Given the description of an element on the screen output the (x, y) to click on. 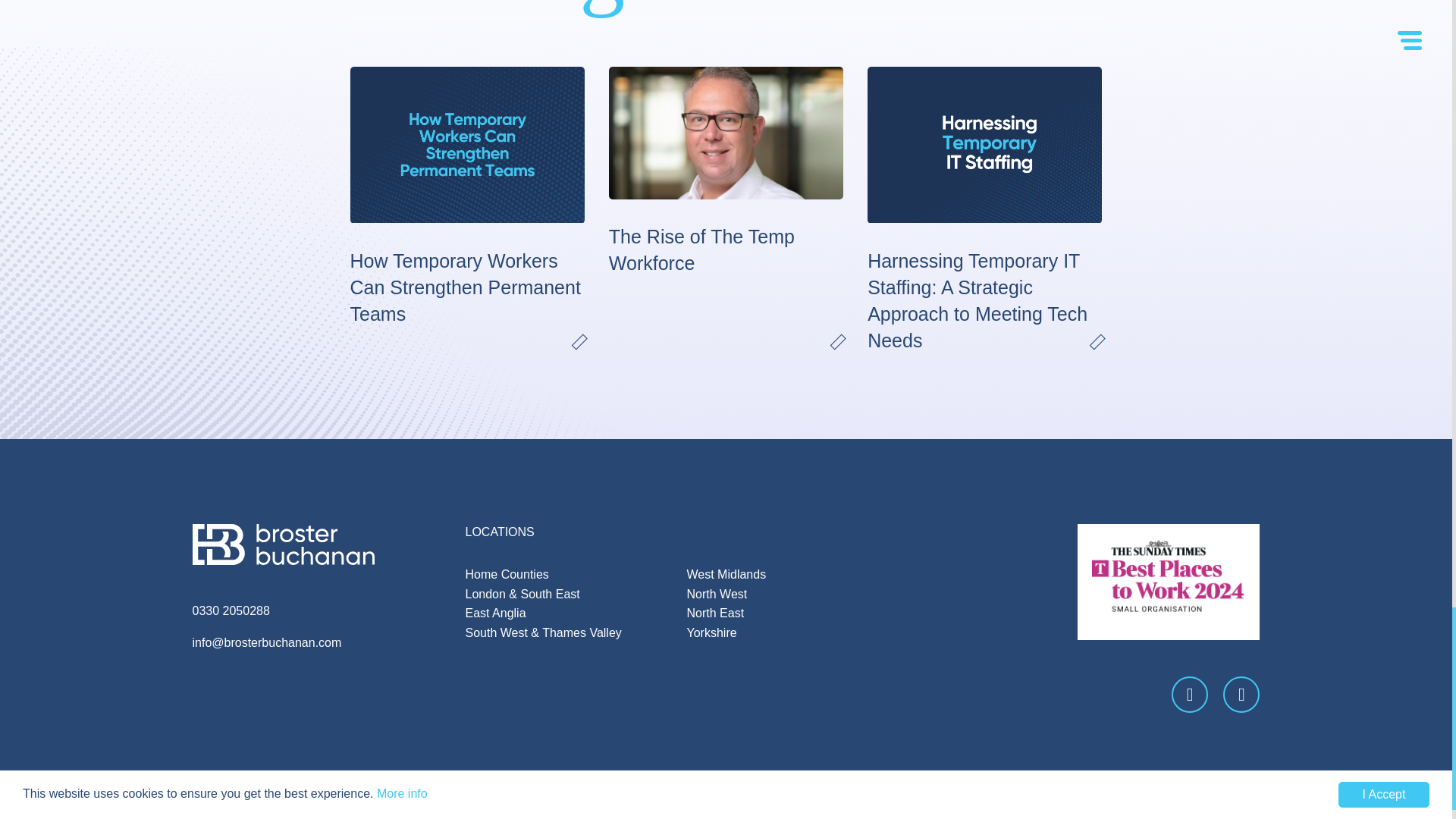
East Anglia (495, 612)
North East (715, 612)
Home Counties (506, 574)
West Midlands (727, 574)
North West (717, 594)
0330 2050288 (230, 610)
